Given the description of an element on the screen output the (x, y) to click on. 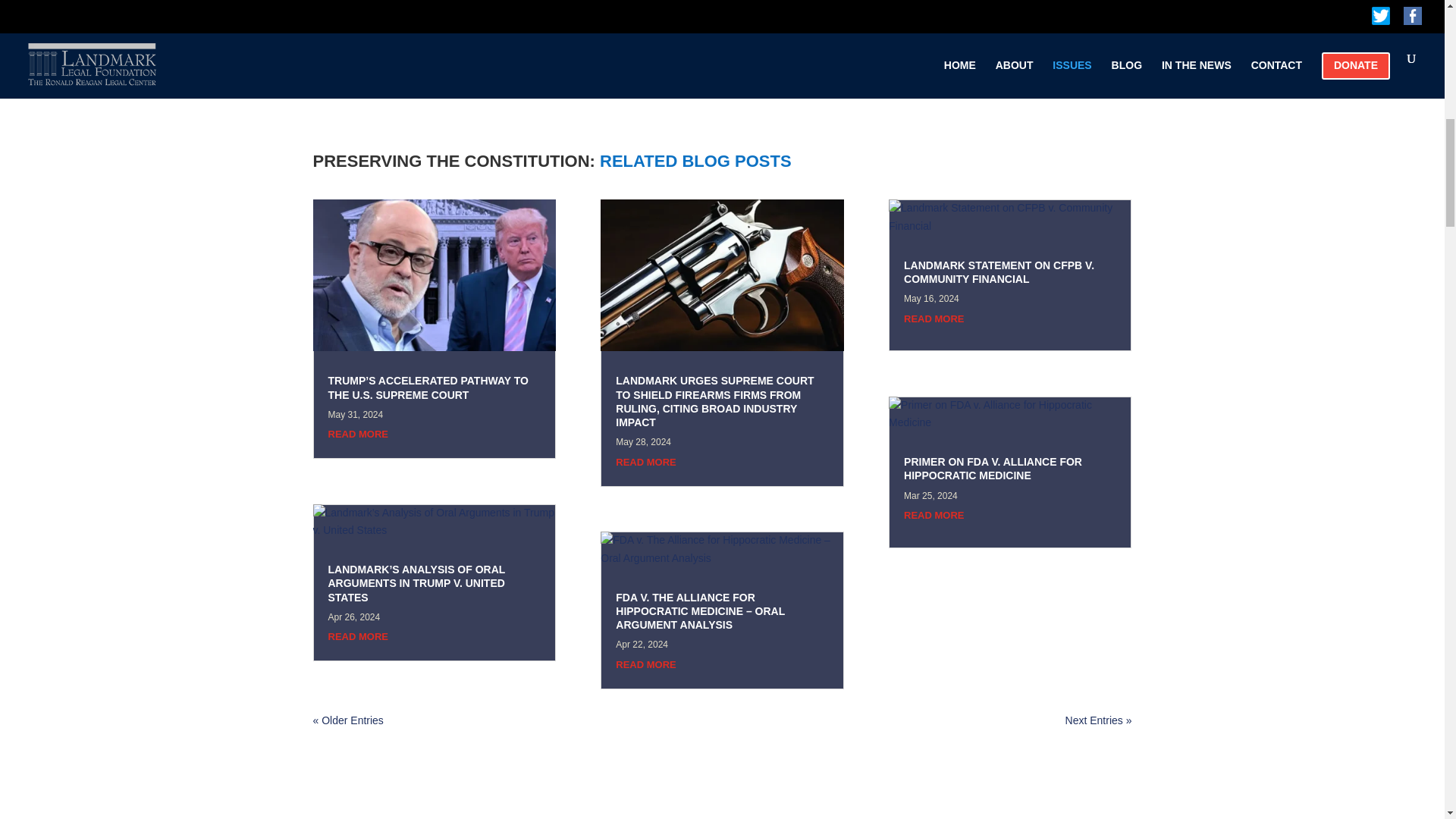
READ MORE (645, 664)
READ MORE (357, 433)
READ MORE (933, 318)
READ MORE (645, 461)
LANDMARK STATEMENT ON CFPB V. COMMUNITY FINANCIAL (999, 272)
READ MORE (357, 636)
